Given the description of an element on the screen output the (x, y) to click on. 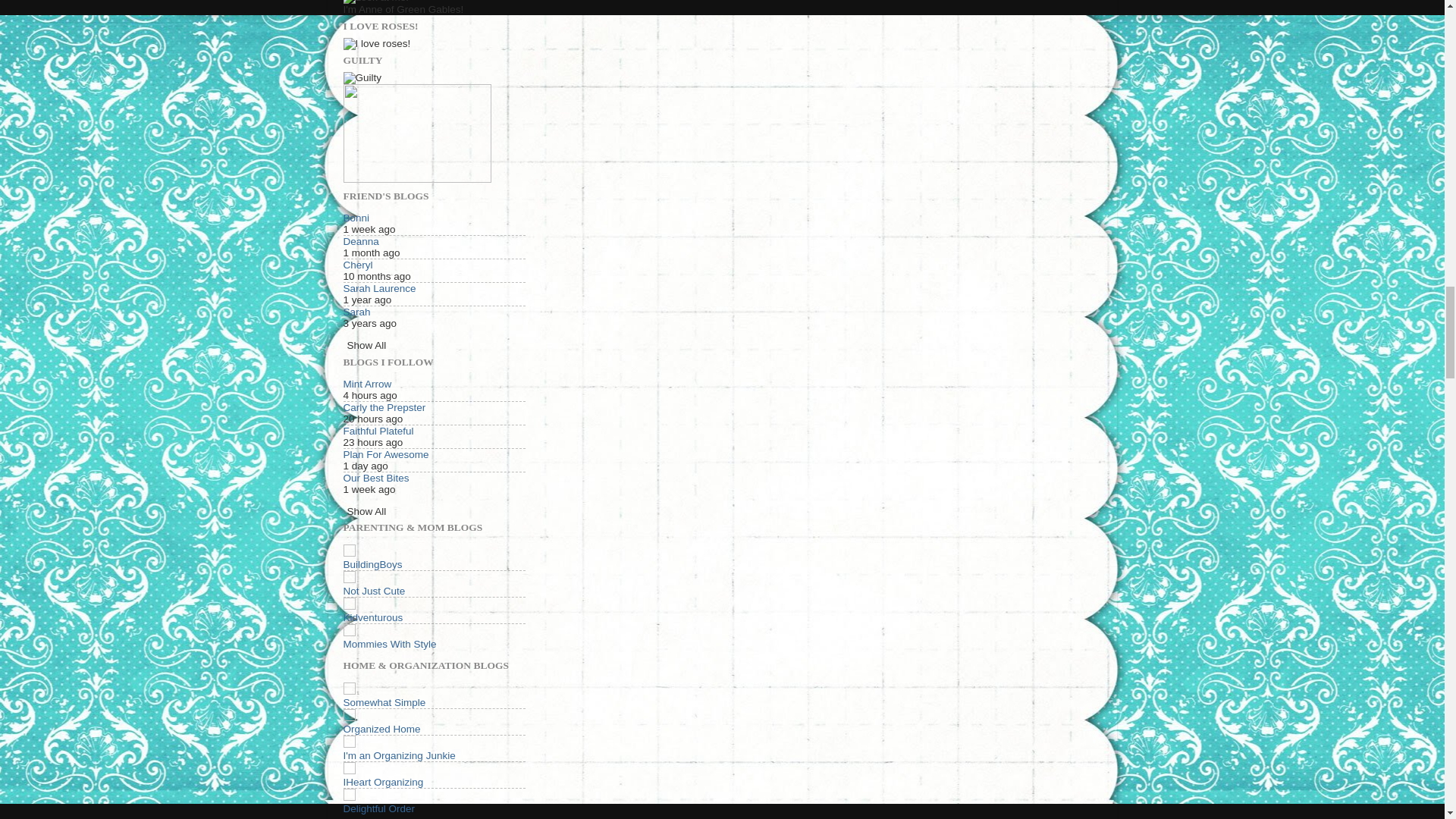
Bonni (355, 217)
Deanna (360, 241)
